Given the description of an element on the screen output the (x, y) to click on. 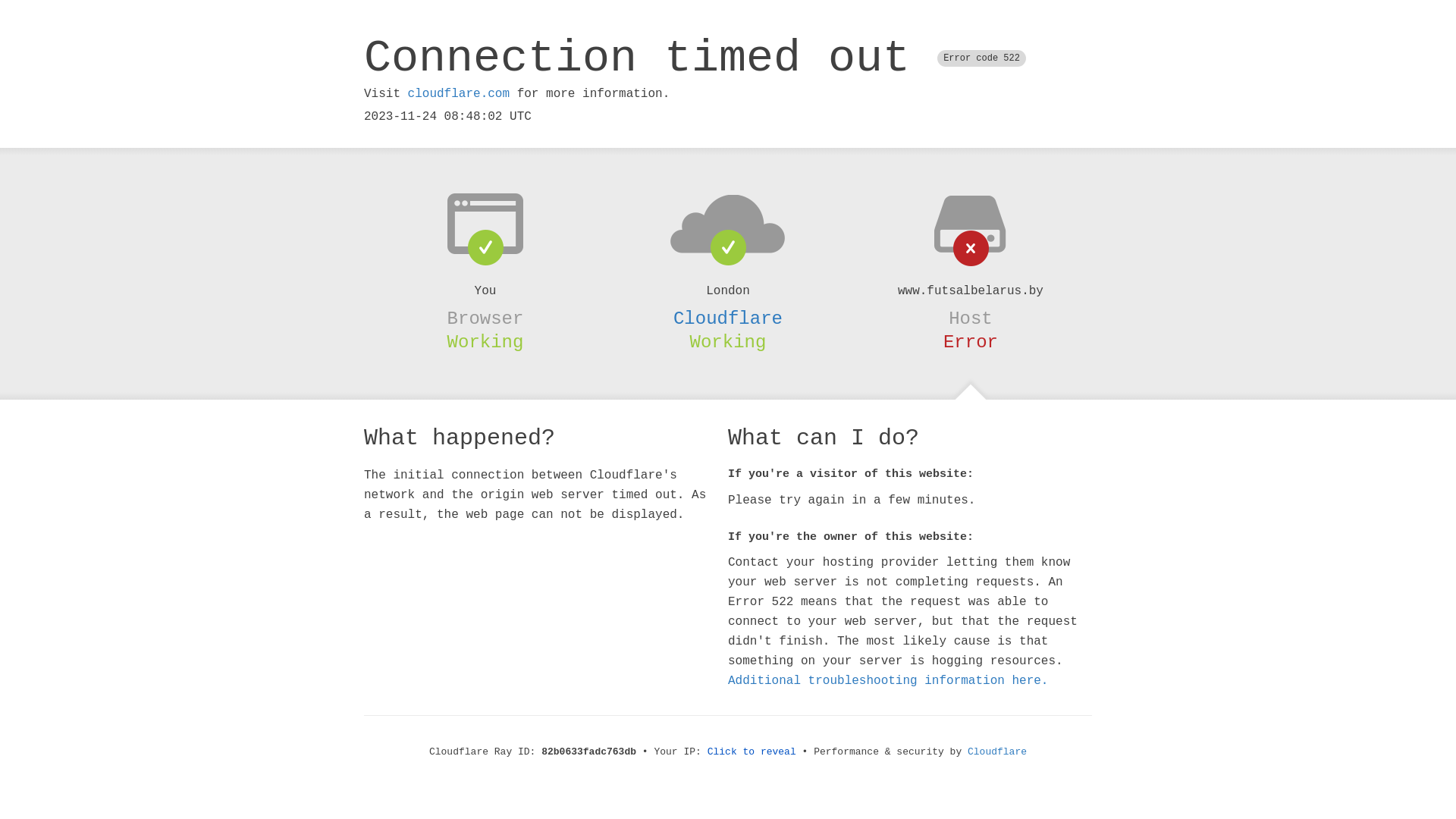
Click to reveal Element type: text (751, 751)
cloudflare.com Element type: text (458, 93)
Cloudflare Element type: text (996, 751)
Additional troubleshooting information here. Element type: text (888, 680)
Cloudflare Element type: text (727, 318)
